Given the description of an element on the screen output the (x, y) to click on. 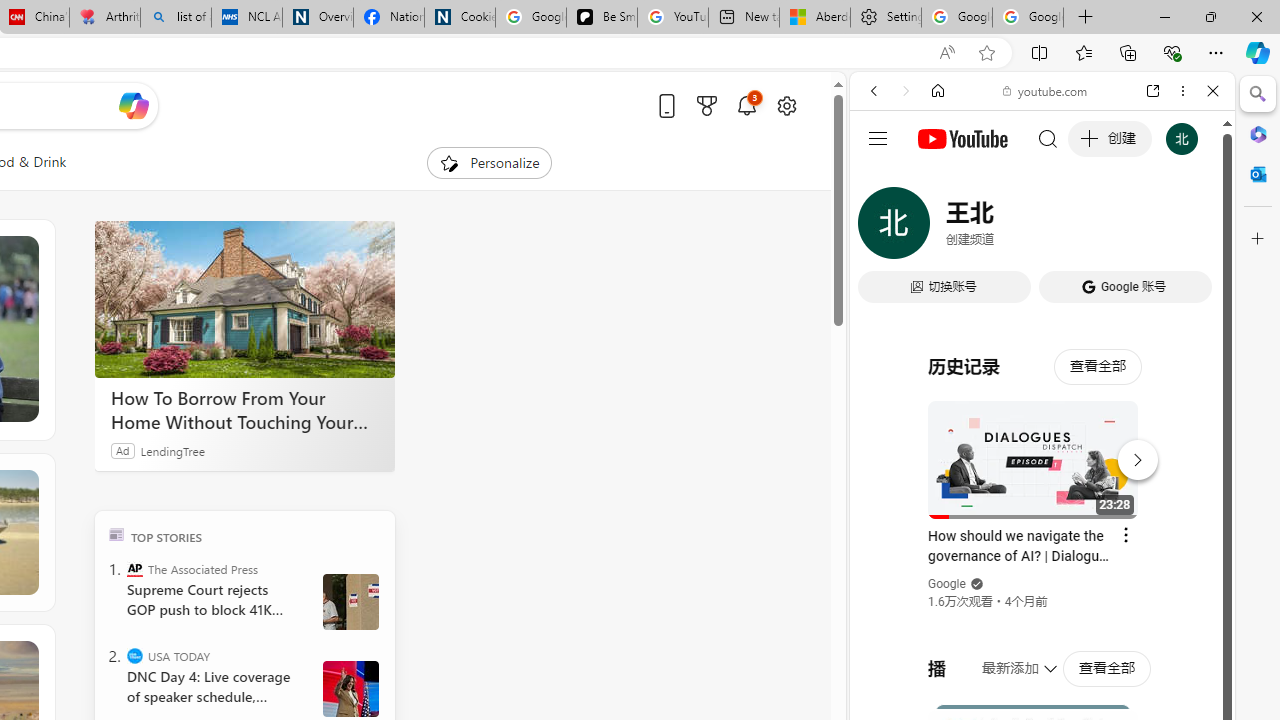
Search Filter, WEB (882, 228)
Collections (1128, 52)
#you (1042, 445)
Close Customize pane (1258, 239)
New tab (744, 17)
Open Copilot (132, 105)
#you (1042, 445)
Aberdeen, Hong Kong SAR hourly forecast | Microsoft Weather (814, 17)
YouTube (1034, 296)
